Given the description of an element on the screen output the (x, y) to click on. 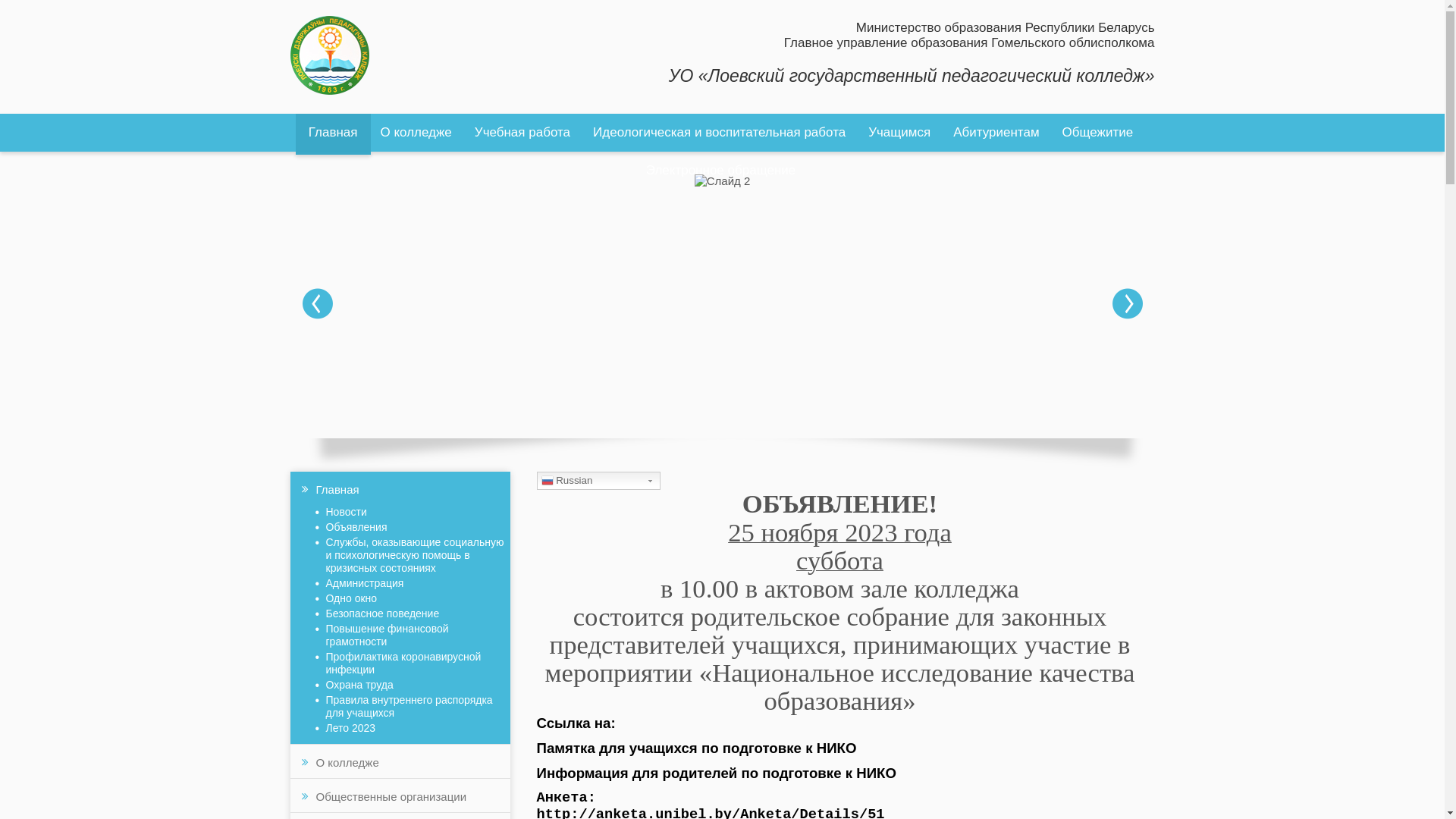
Russian Element type: text (598, 480)
